Given the description of an element on the screen output the (x, y) to click on. 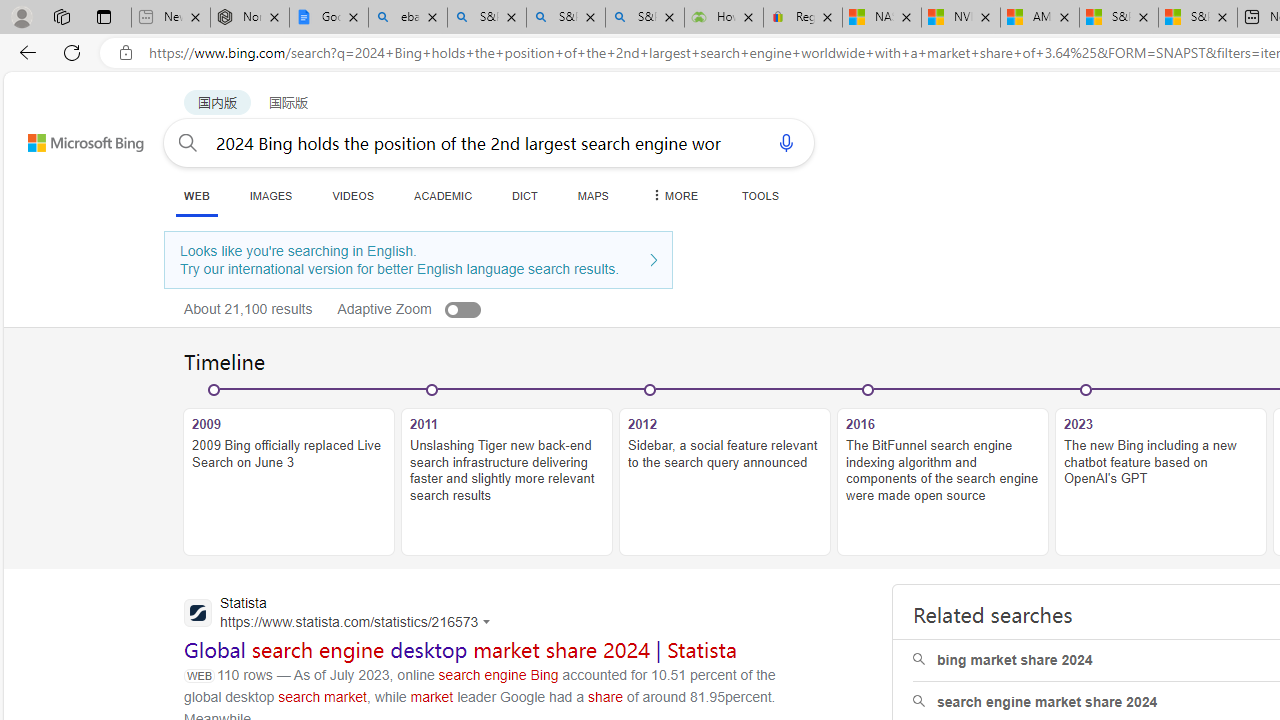
Global search engine desktop market share 2024 | Statista (461, 650)
S&P 500 - Search (566, 17)
VIDEOS (352, 195)
Dropdown Menu (673, 195)
Global web icon (197, 612)
Actions for this site (489, 622)
Register: Create a personal eBay account (803, 17)
Adaptive Zoom (429, 308)
Search using voice (785, 142)
ACADEMIC (443, 195)
VIDEOS (352, 195)
